Given the description of an element on the screen output the (x, y) to click on. 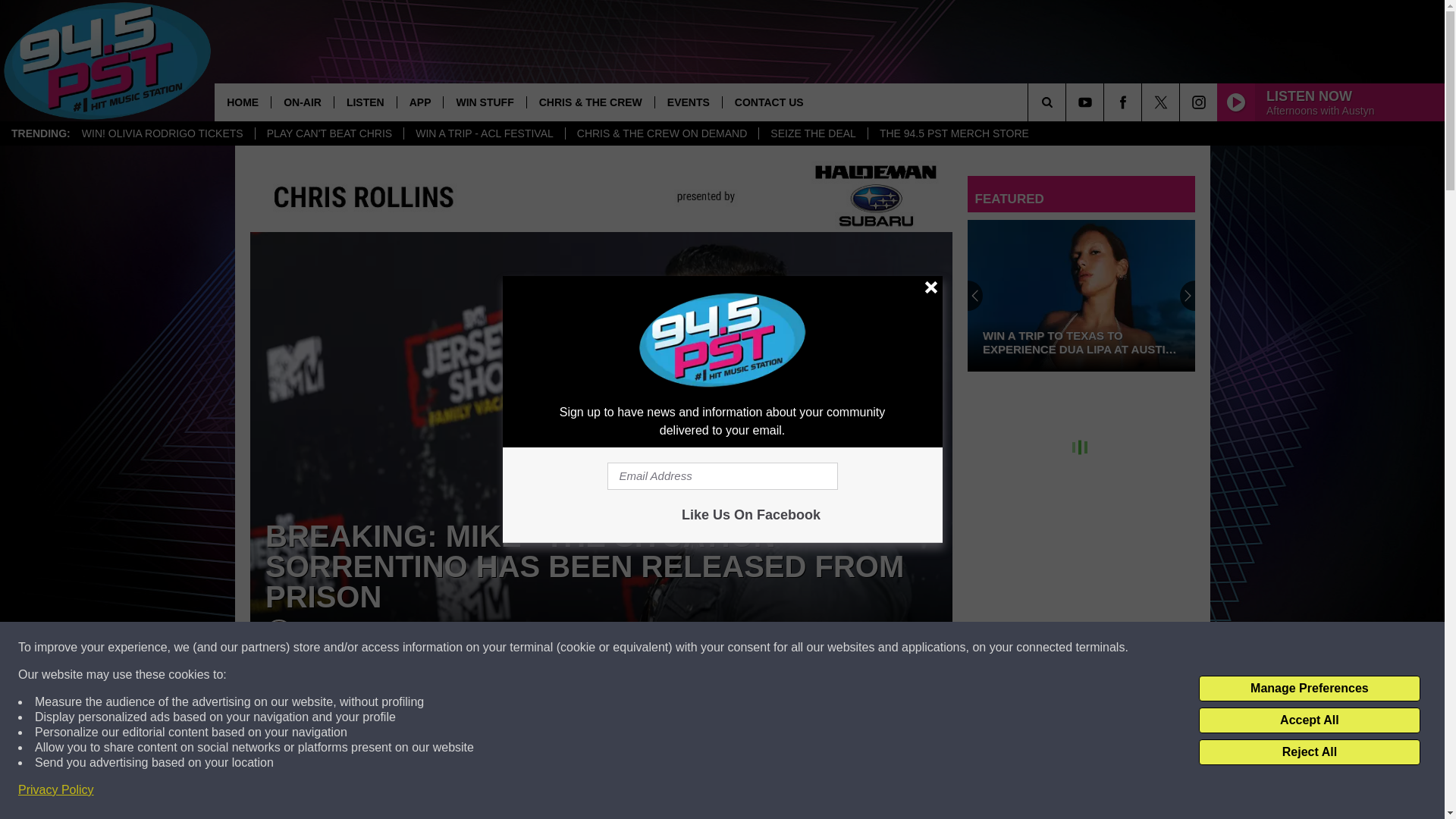
Manage Preferences (1309, 688)
WIN! OLIVIA RODRIGO TICKETS (161, 133)
Share on Facebook (413, 718)
Print this page (787, 718)
ON-AIR (301, 102)
WIN A TRIP - ACL FESTIVAL (483, 133)
SEARCH (1068, 102)
APP (420, 102)
Privacy Policy (55, 789)
WIN STUFF (483, 102)
PLAY CAN'T BEAT CHRIS (329, 133)
LISTEN (364, 102)
SEIZE THE DEAL (812, 133)
Share on Twitter (600, 718)
Reject All (1309, 751)
